Given the description of an element on the screen output the (x, y) to click on. 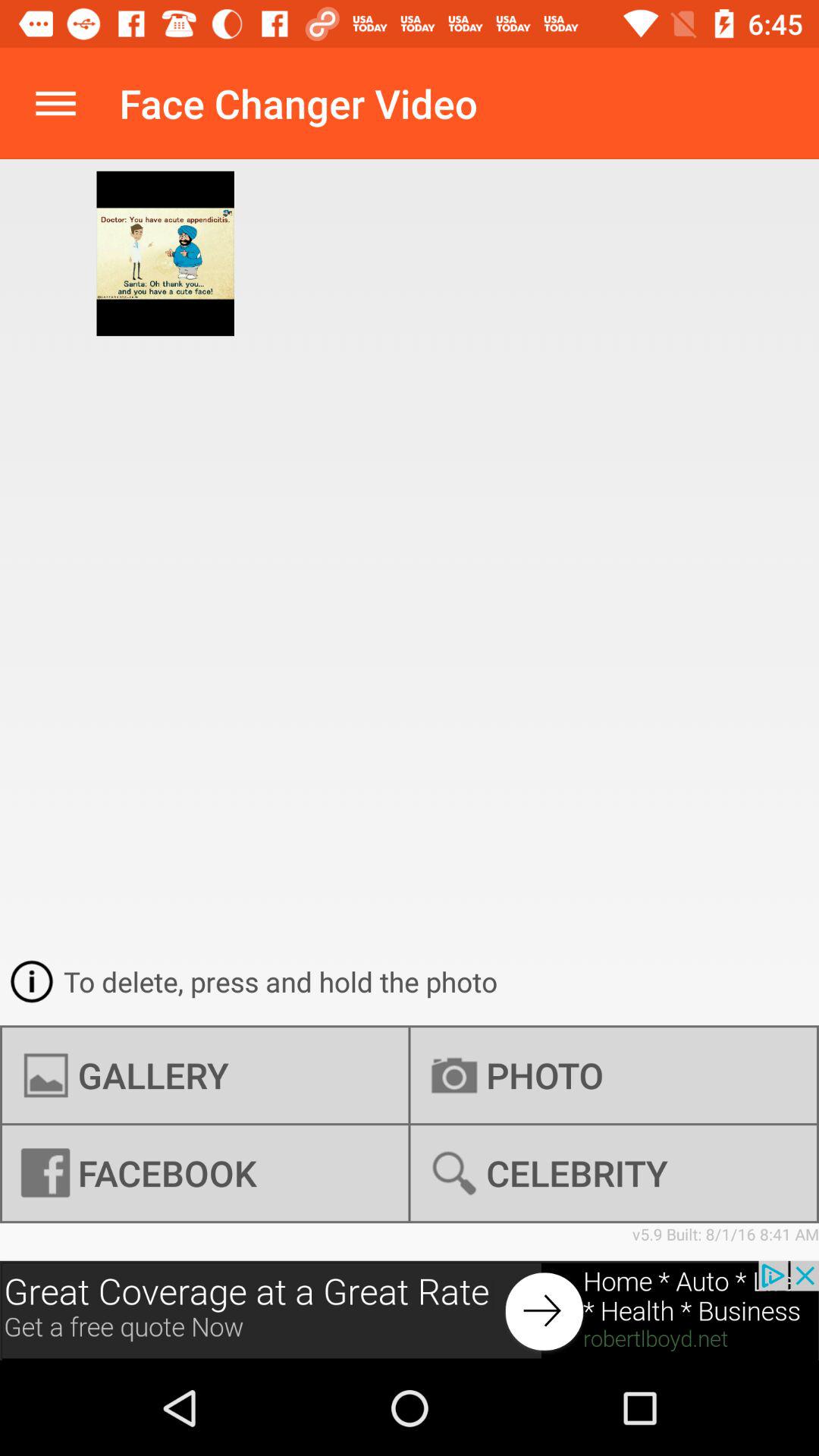
open item next to photo icon (205, 1173)
